Given the description of an element on the screen output the (x, y) to click on. 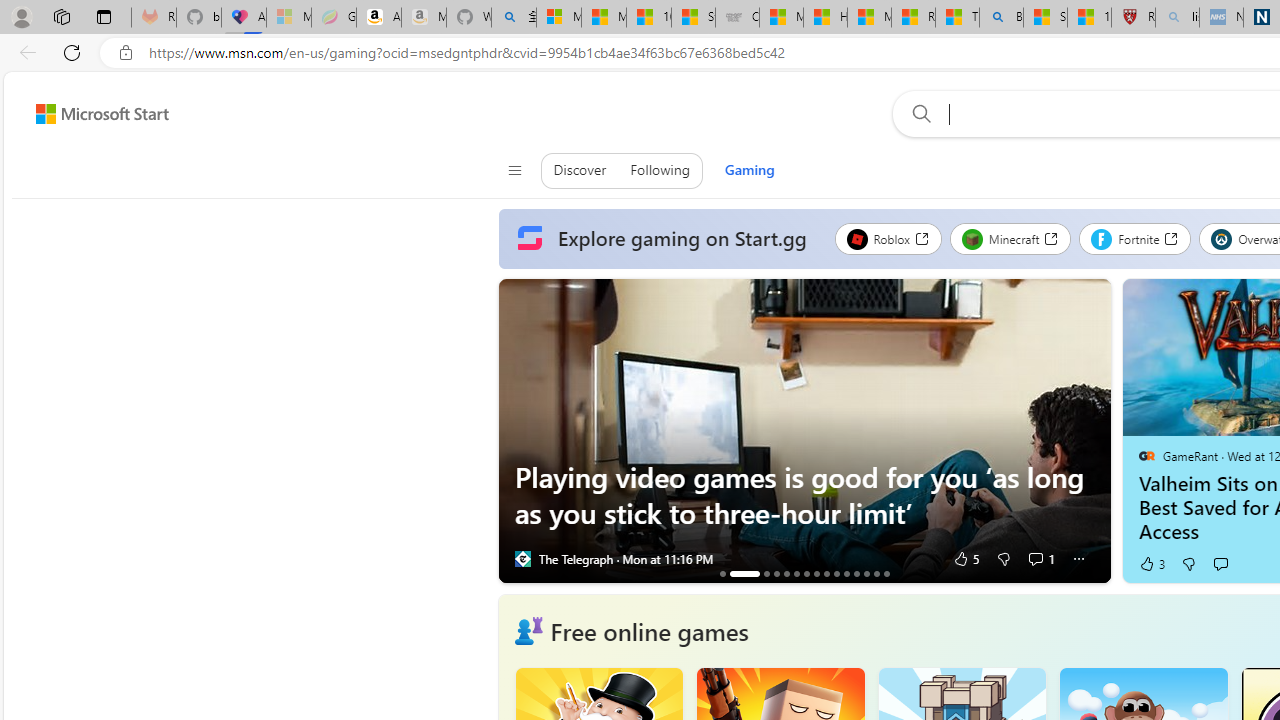
Gaming (749, 170)
Microsoft account | Privacy (558, 17)
Skip to footer (90, 113)
Start the conversation (1220, 563)
Hide this story (1090, 299)
Recipes - MSN (913, 17)
Following (660, 169)
5 Of The Best Uses For An Old PS4 (836, 573)
Gaming (748, 169)
4 telltale signs that it's time to upgrade your PC (856, 573)
Science - MSN (1045, 17)
